Given the description of an element on the screen output the (x, y) to click on. 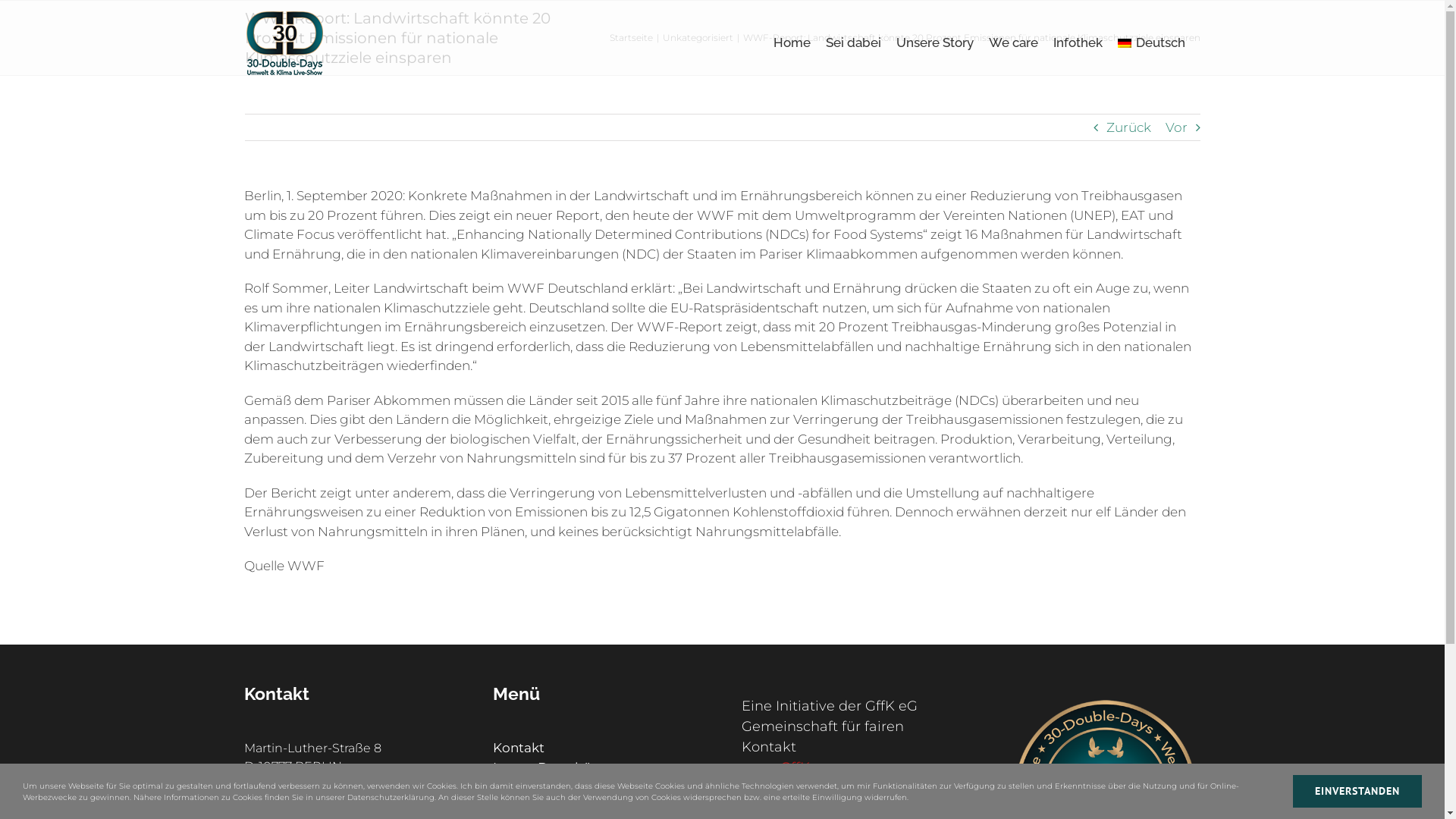
Deutsch Element type: text (1150, 41)
Unsere Story Element type: text (934, 41)
Startseite Element type: text (630, 37)
Presse Element type: text (597, 787)
www.GffK.org Element type: text (788, 766)
Sei dabei Element type: text (853, 41)
We care Element type: text (1013, 41)
Home Element type: text (791, 41)
EINVERSTANDEN Element type: text (1356, 791)
Kontakt Element type: text (597, 748)
Infothek Element type: text (1077, 41)
Unkategorisiert Element type: text (697, 37)
Impressum/Datenschutz Element type: text (597, 806)
Vor Element type: text (1175, 127)
